Given the description of an element on the screen output the (x, y) to click on. 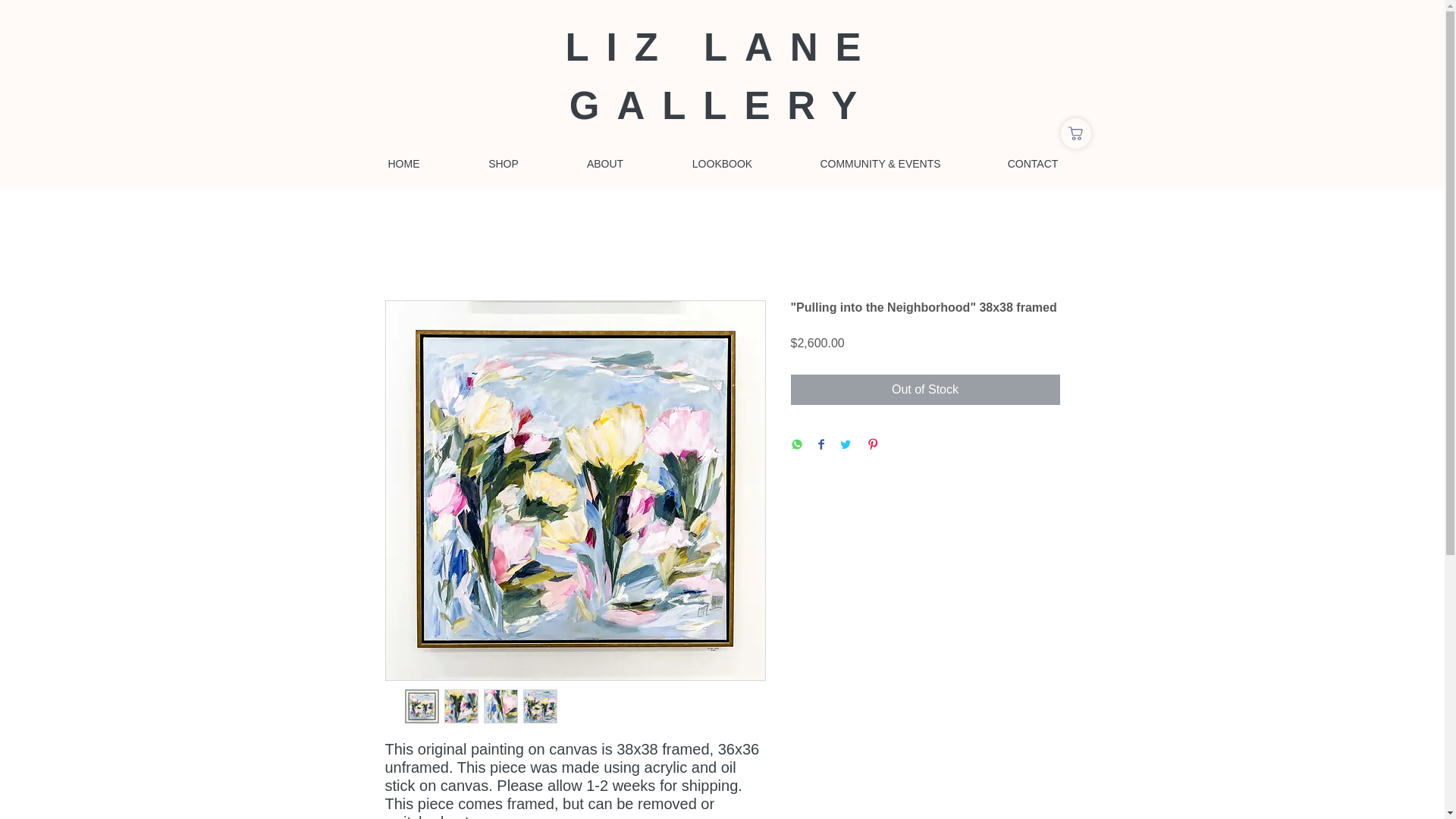
SHOP (503, 163)
Out of Stock (924, 389)
HOME (403, 163)
ABOUT (604, 163)
LOOKBOOK (722, 163)
CONTACT (1032, 163)
